Given the description of an element on the screen output the (x, y) to click on. 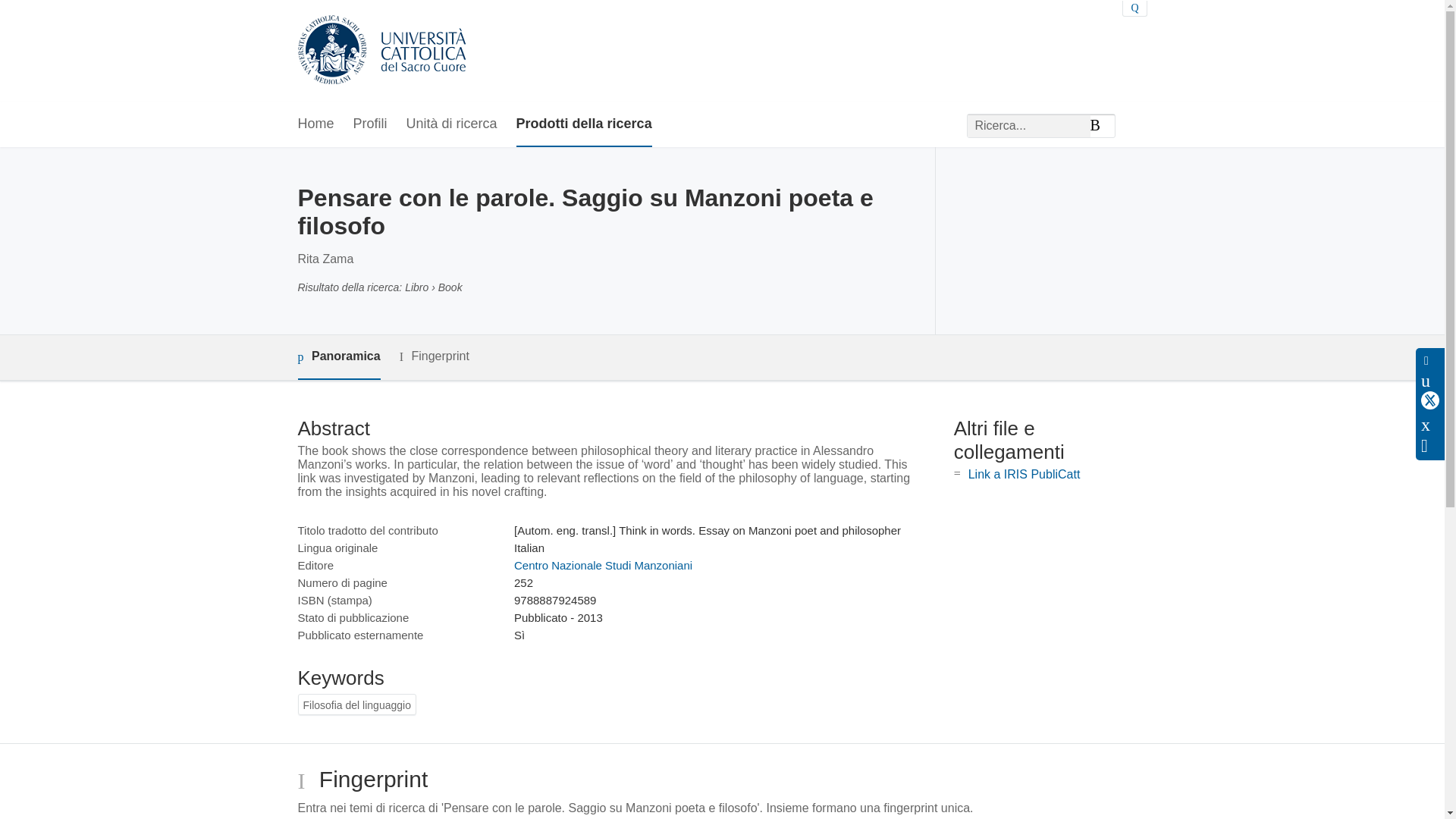
Fingerprint (433, 356)
PubliRES - Publications, Research, Expertise and Skills Home (380, 50)
Prodotti della ricerca (584, 124)
Centro Nazionale Studi Manzoniani (603, 564)
Link a IRIS PubliCatt (1024, 473)
Panoramica (338, 357)
